Given the description of an element on the screen output the (x, y) to click on. 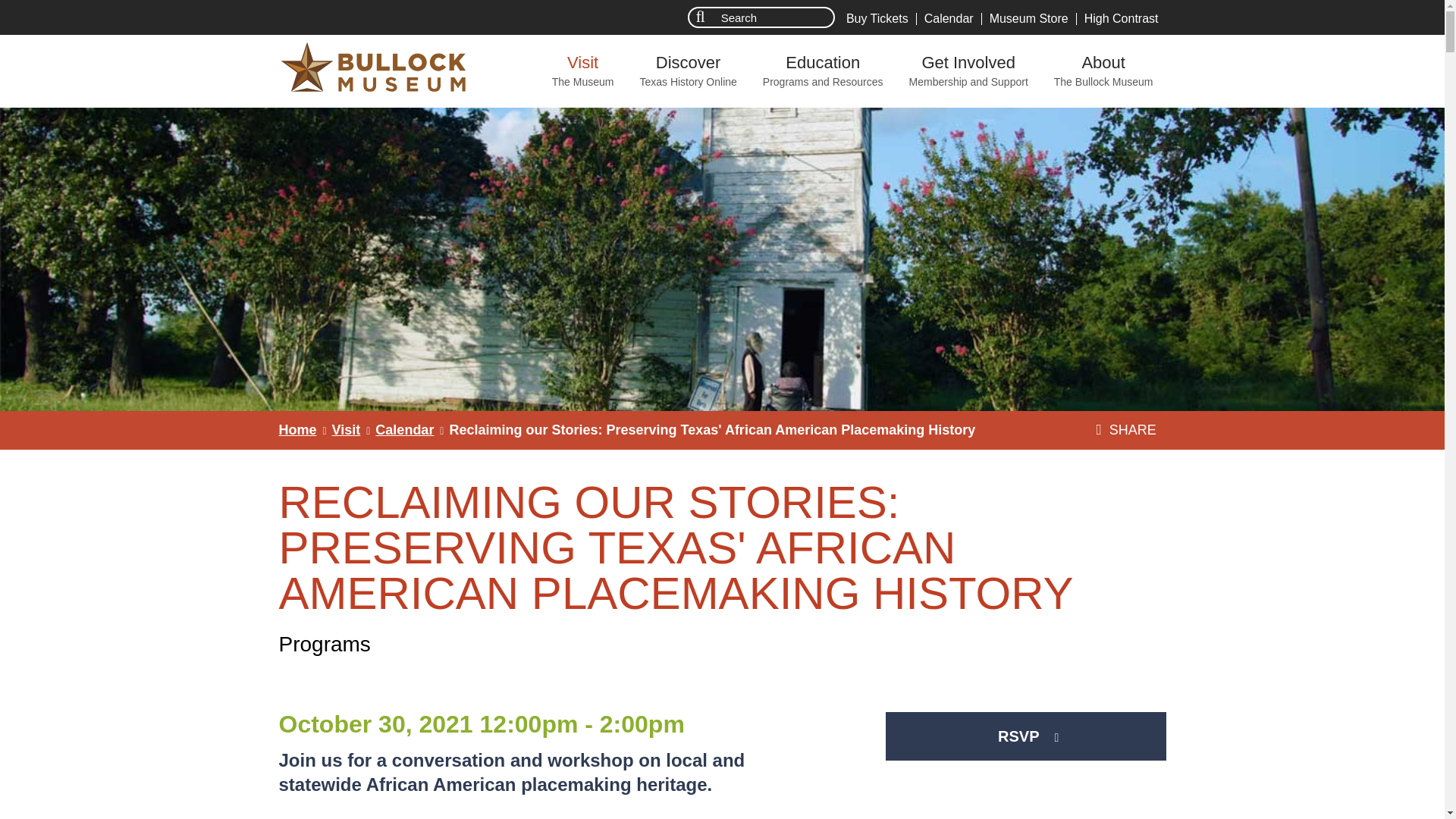
The Story of Texas (687, 71)
Buy Tickets (298, 429)
Calendar (582, 71)
High Contrast (877, 19)
Bullock Texas State History Museum (949, 19)
Museum Store (1121, 19)
